Given the description of an element on the screen output the (x, y) to click on. 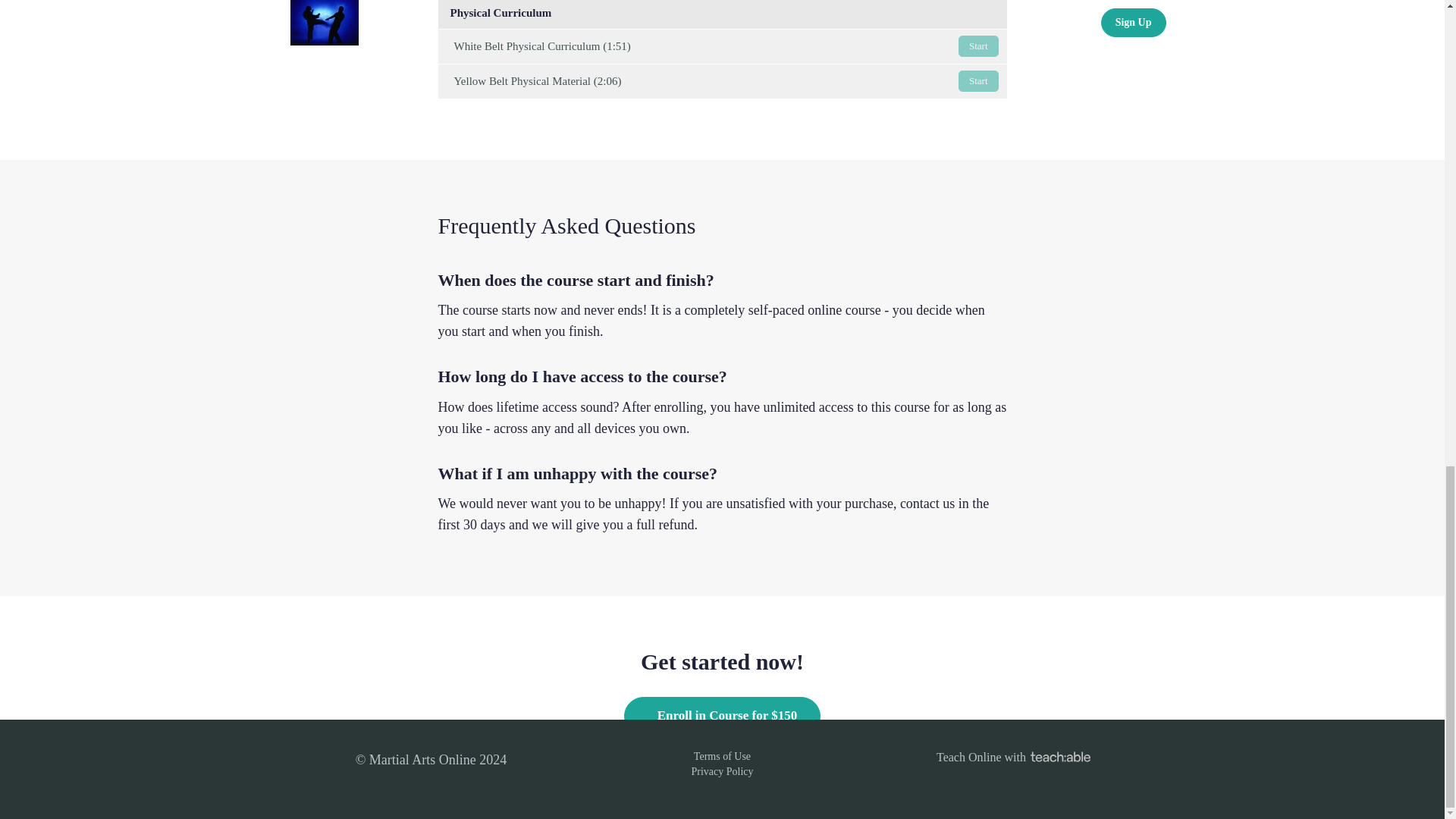
Privacy Policy (721, 771)
Teach Online with (1013, 757)
Terms of Use (722, 756)
